Given the description of an element on the screen output the (x, y) to click on. 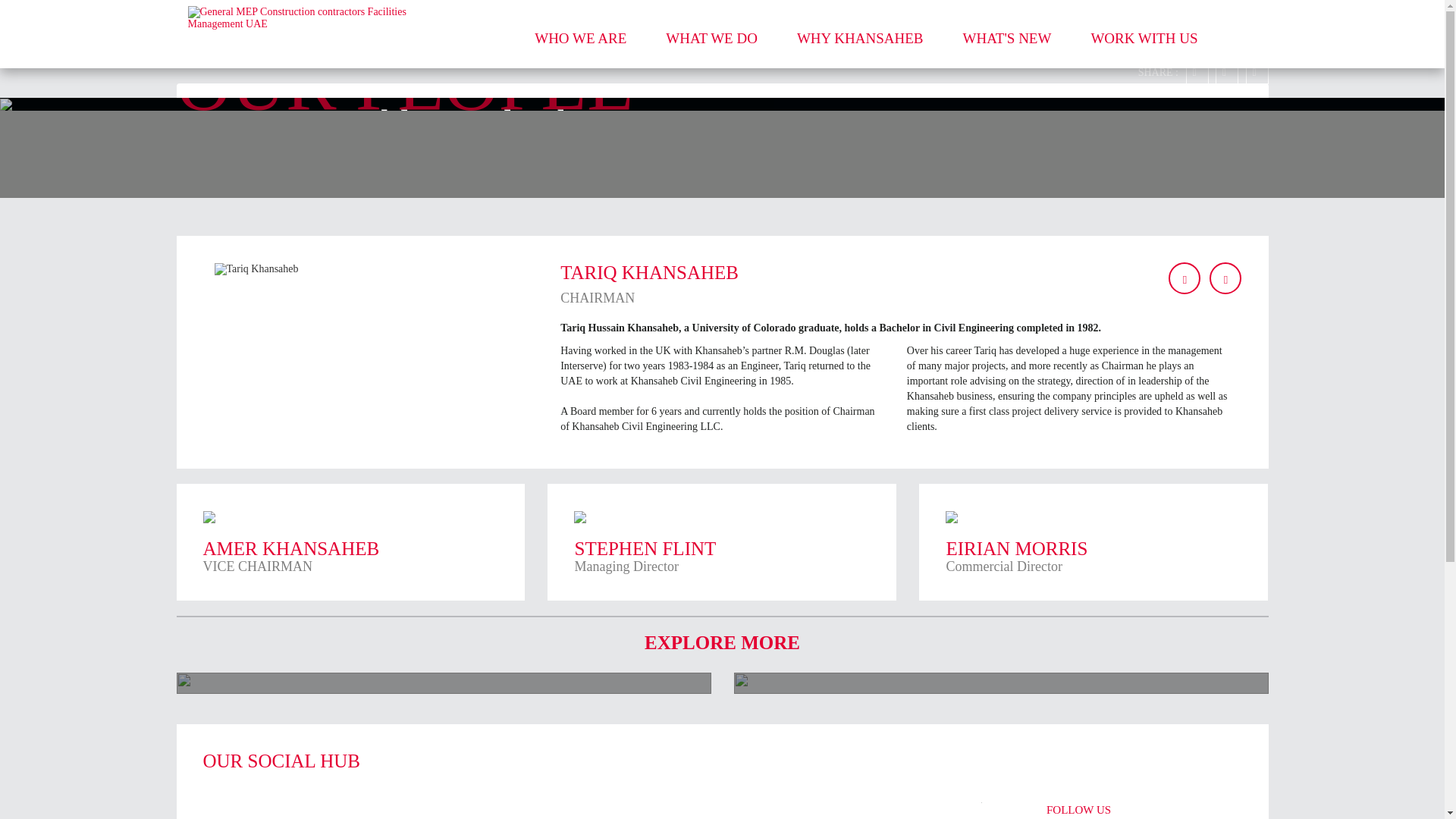
Leadership Detail (455, 102)
WHO WE ARE (580, 49)
WHY KHANSAHEB (859, 49)
Home (203, 101)
WHAT'S NEW (1006, 49)
OUR HISTORY TIMELINE (721, 542)
WORK WITH US (443, 682)
